Given the description of an element on the screen output the (x, y) to click on. 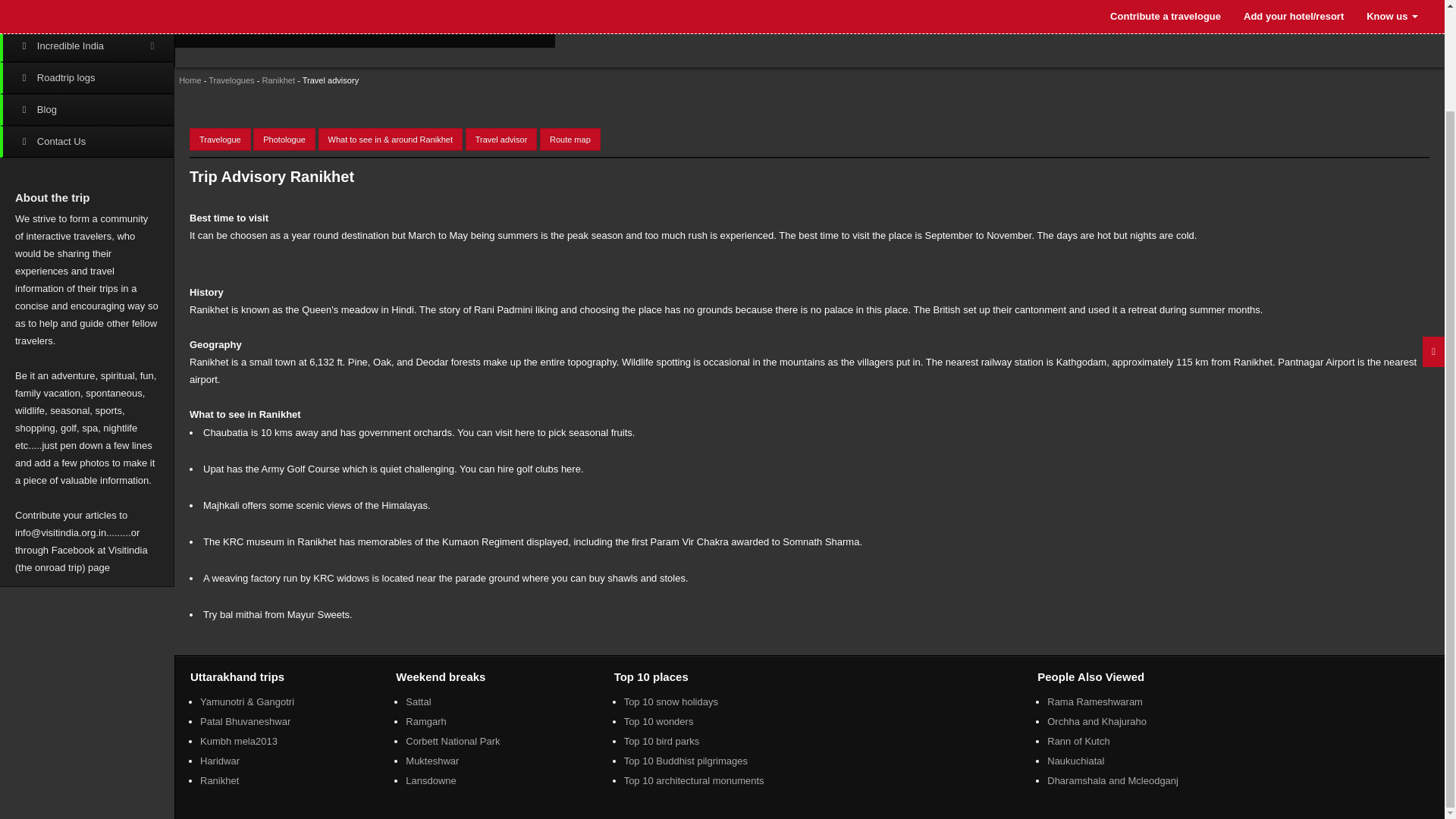
Blog (86, 110)
Ranikhet (278, 80)
Weekend trips (86, 15)
  Home (188, 80)
Travelogues (230, 80)
Contact Us (86, 142)
Roadtrip logs (86, 78)
Incredible India (86, 46)
